Given the description of an element on the screen output the (x, y) to click on. 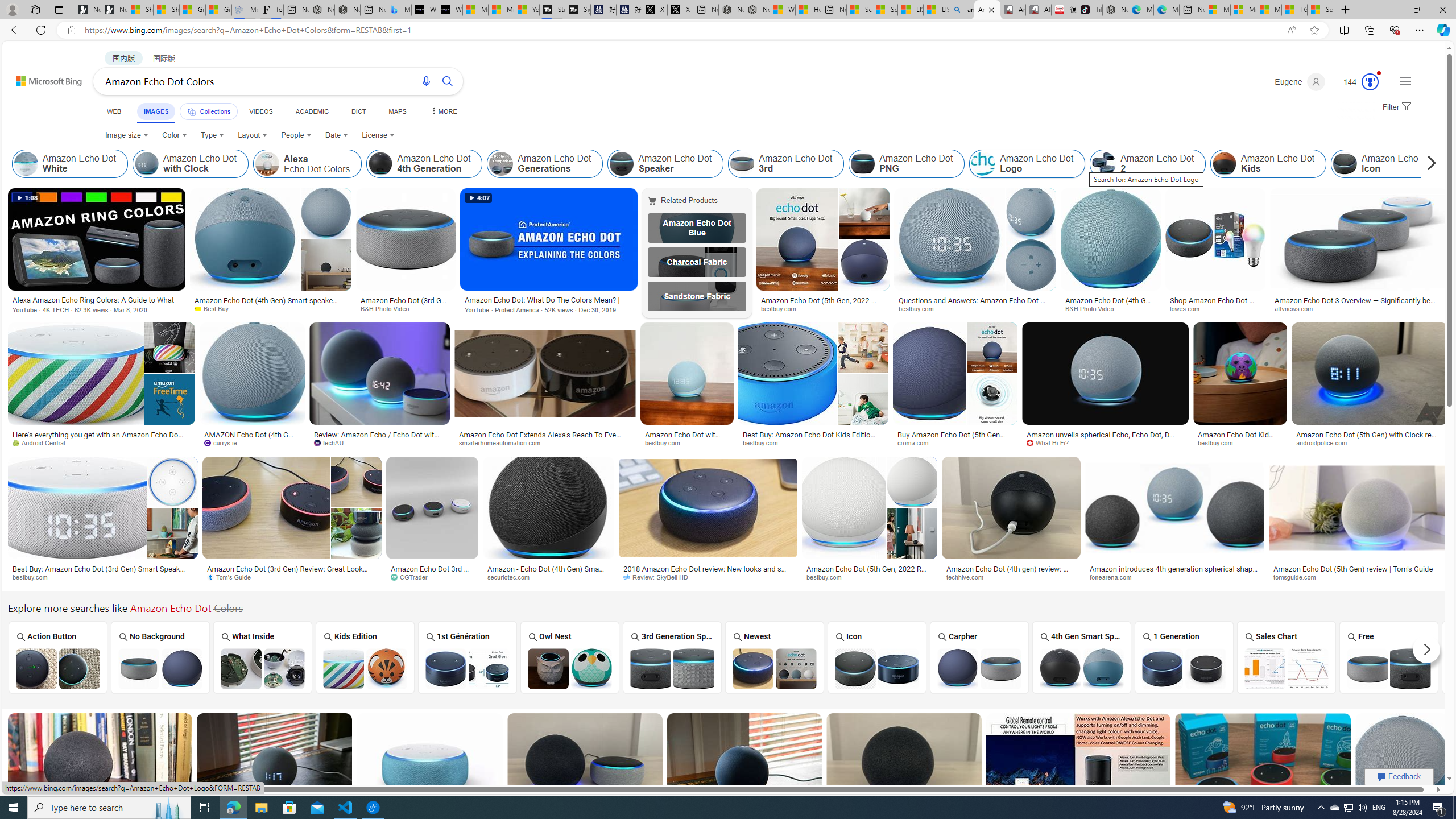
Amazon Echo Dot 1st Generation (467, 668)
Amazon Echo Dot Icon (1387, 163)
Layout (253, 135)
Free (1388, 656)
B&H Photo Video (1093, 308)
Best Buy (270, 308)
Action Button (56, 656)
Streaming Coverage | T3 (551, 9)
